Given the description of an element on the screen output the (x, y) to click on. 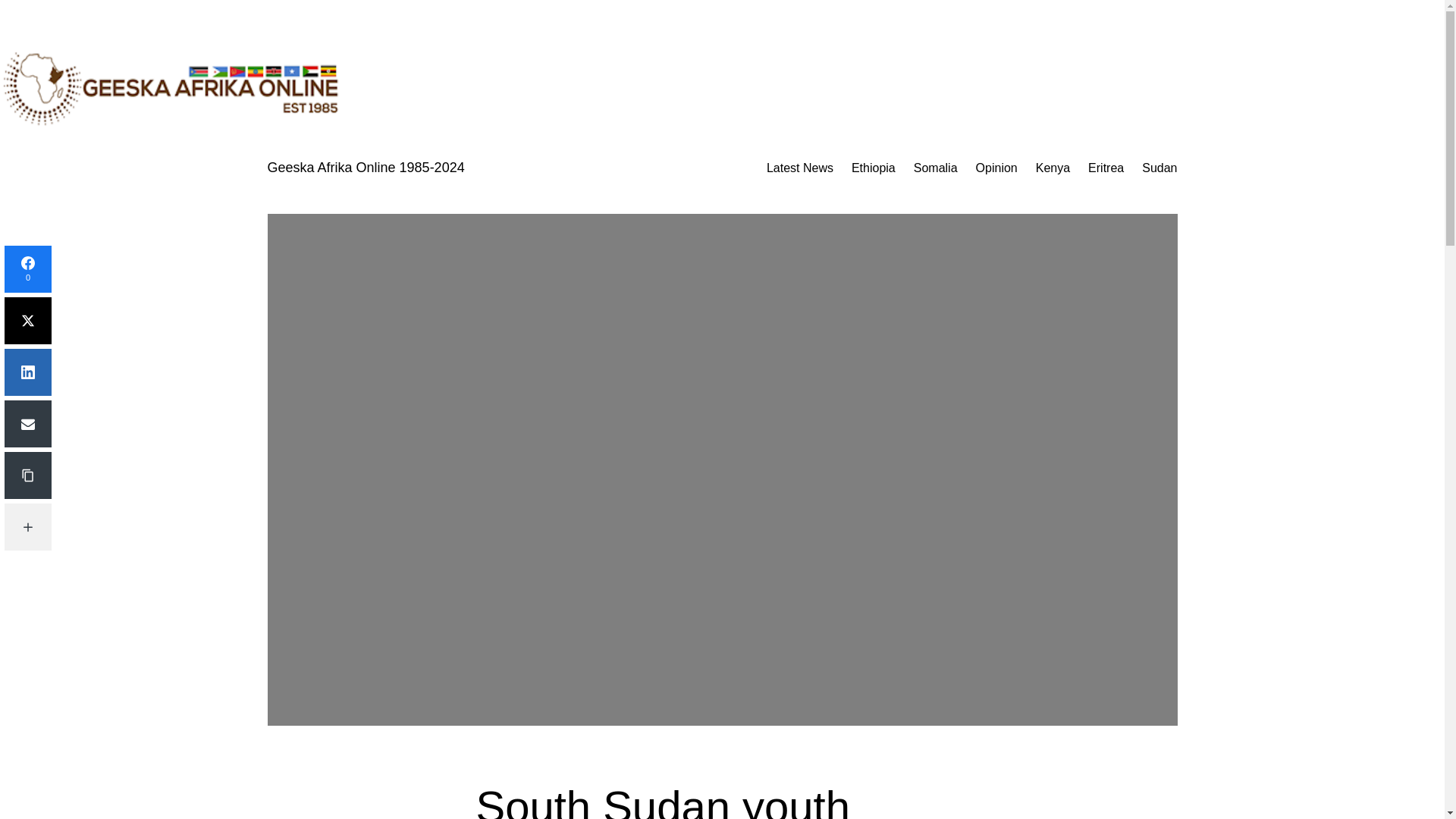
Ethiopia (873, 168)
Geeska Afrika Online 1985-2024 (365, 167)
Eritrea (1105, 168)
Somalia (936, 168)
Opinion (996, 168)
Latest News (799, 168)
0 (27, 268)
Kenya (1052, 168)
Sudan (1158, 168)
